Given the description of an element on the screen output the (x, y) to click on. 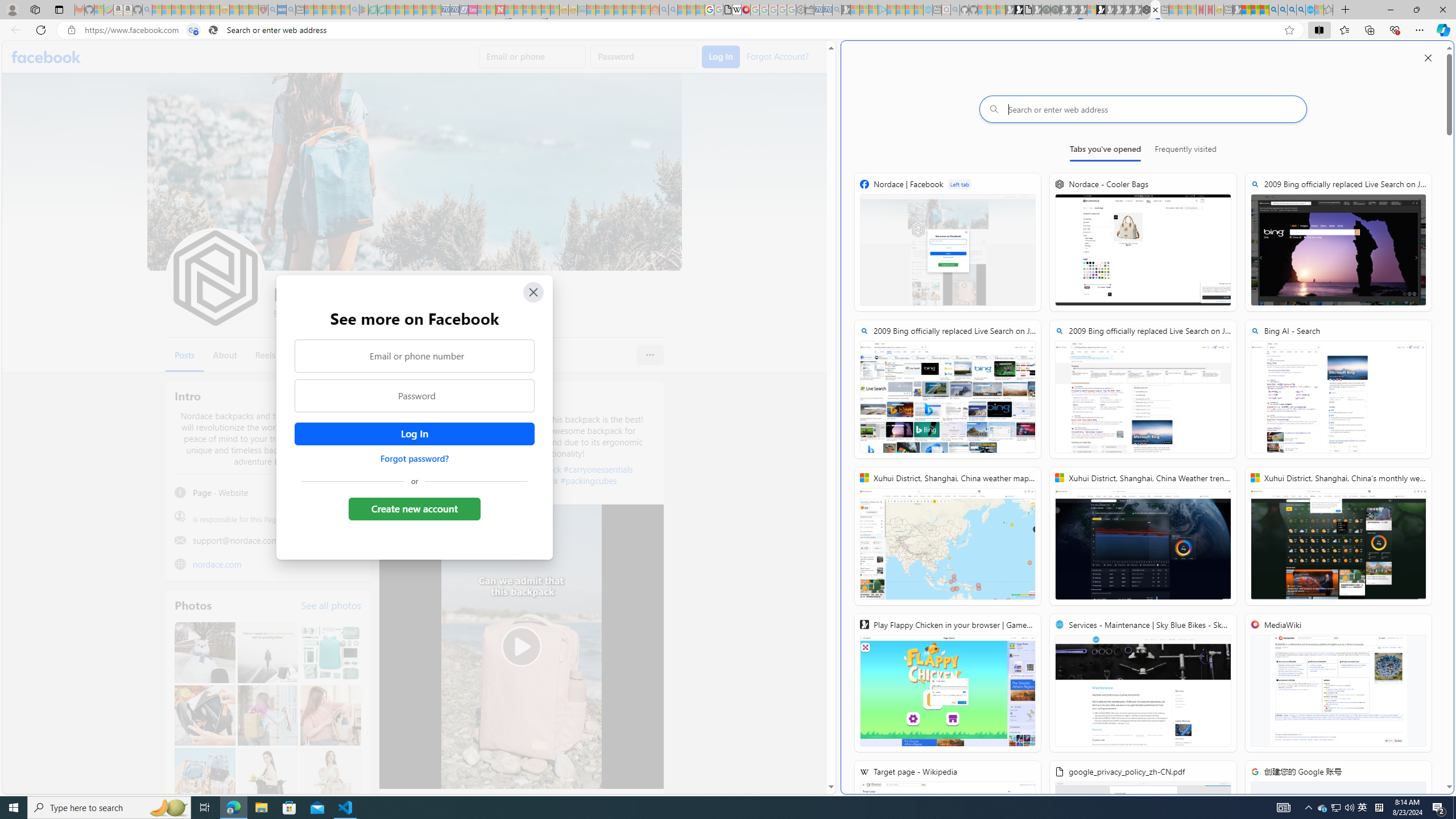
Tabs in split screen (193, 29)
utah sues federal government - Search - Sleeping (290, 9)
Services - Maintenance | Sky Blue Bikes - Sky Blue Bikes (1142, 682)
Microsoft Start Gaming - Sleeping (846, 9)
MediaWiki (745, 9)
